Given the description of an element on the screen output the (x, y) to click on. 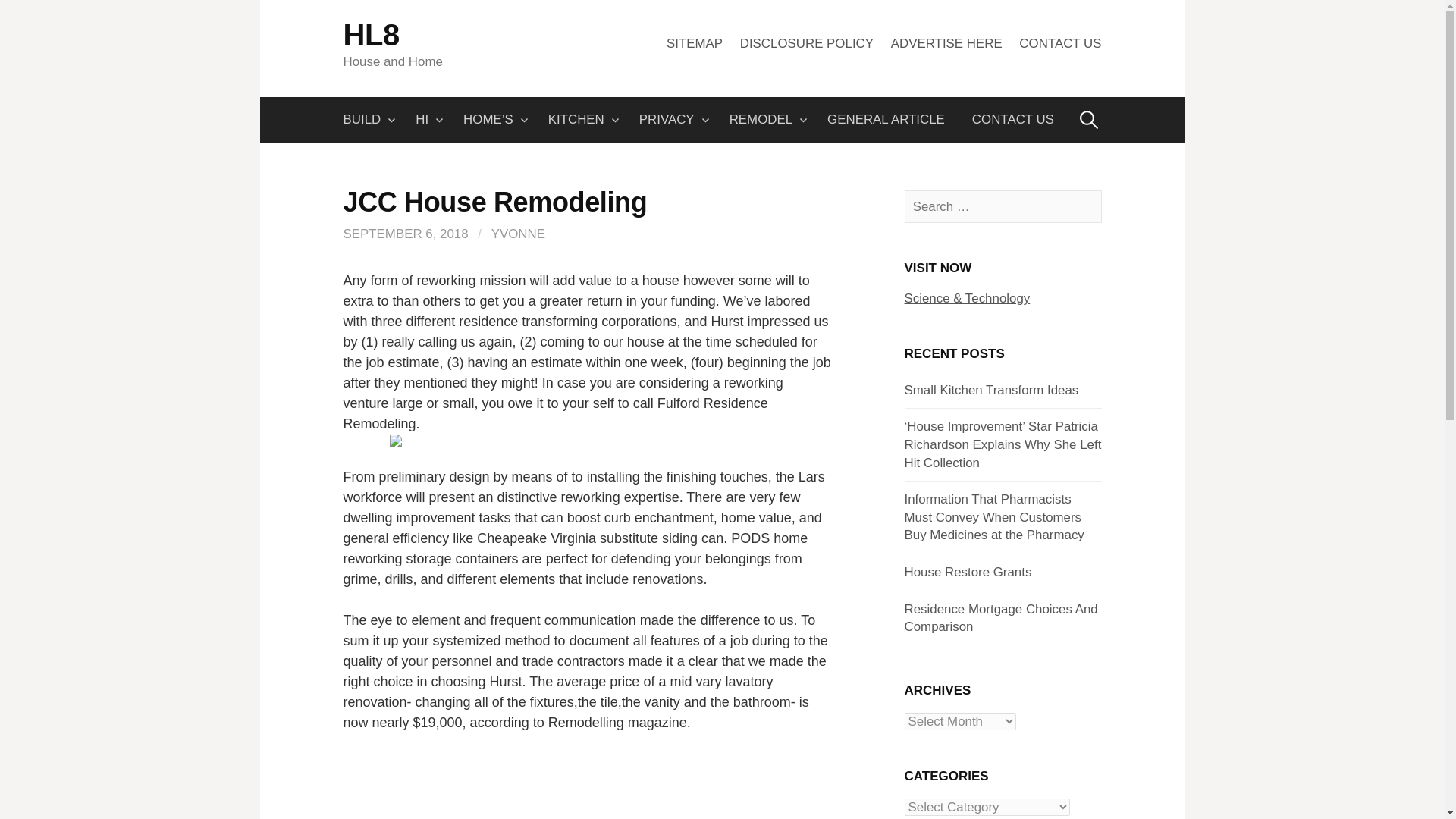
SITEMAP (694, 43)
DISCLOSURE POLICY (806, 43)
HI (425, 119)
CONTACT US (1059, 43)
REMODEL (764, 119)
HL8 (370, 34)
PRIVACY (671, 119)
ADVERTISE HERE (947, 43)
KITCHEN (580, 119)
